Given the description of an element on the screen output the (x, y) to click on. 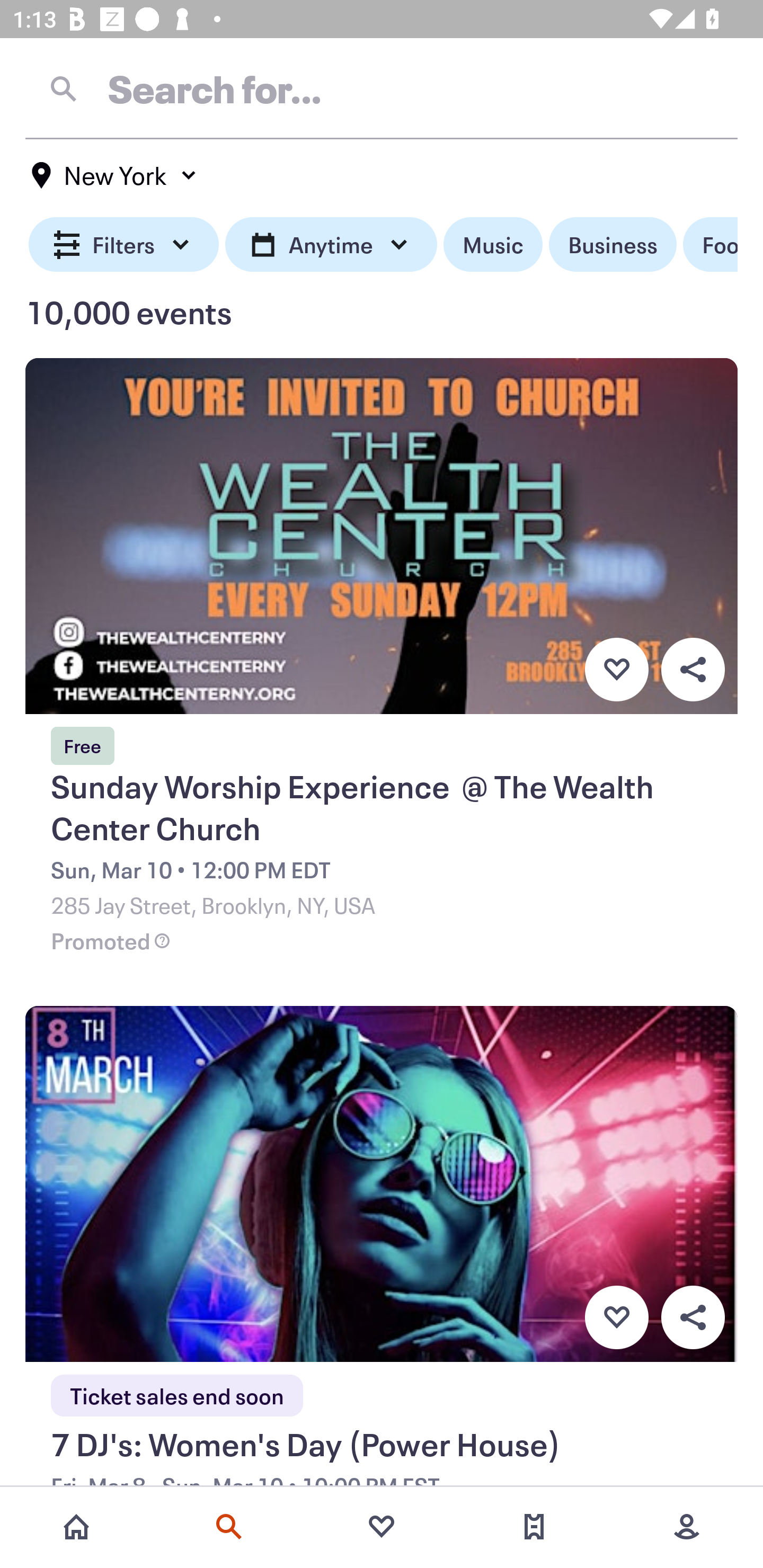
Home (76, 1526)
Search events (228, 1526)
Favorites (381, 1526)
Tickets (533, 1526)
More (686, 1526)
